Given the description of an element on the screen output the (x, y) to click on. 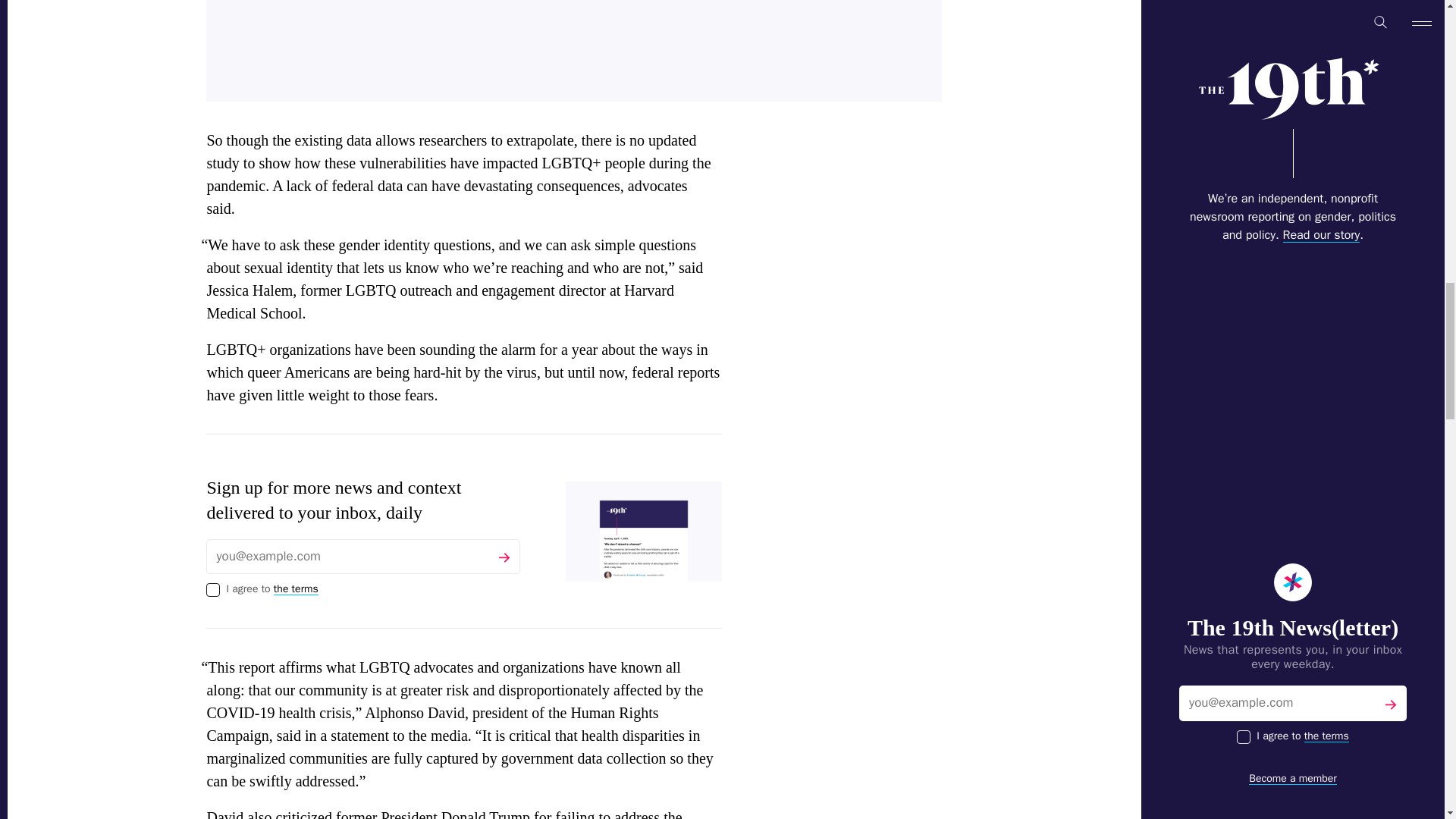
on (212, 590)
